Given the description of an element on the screen output the (x, y) to click on. 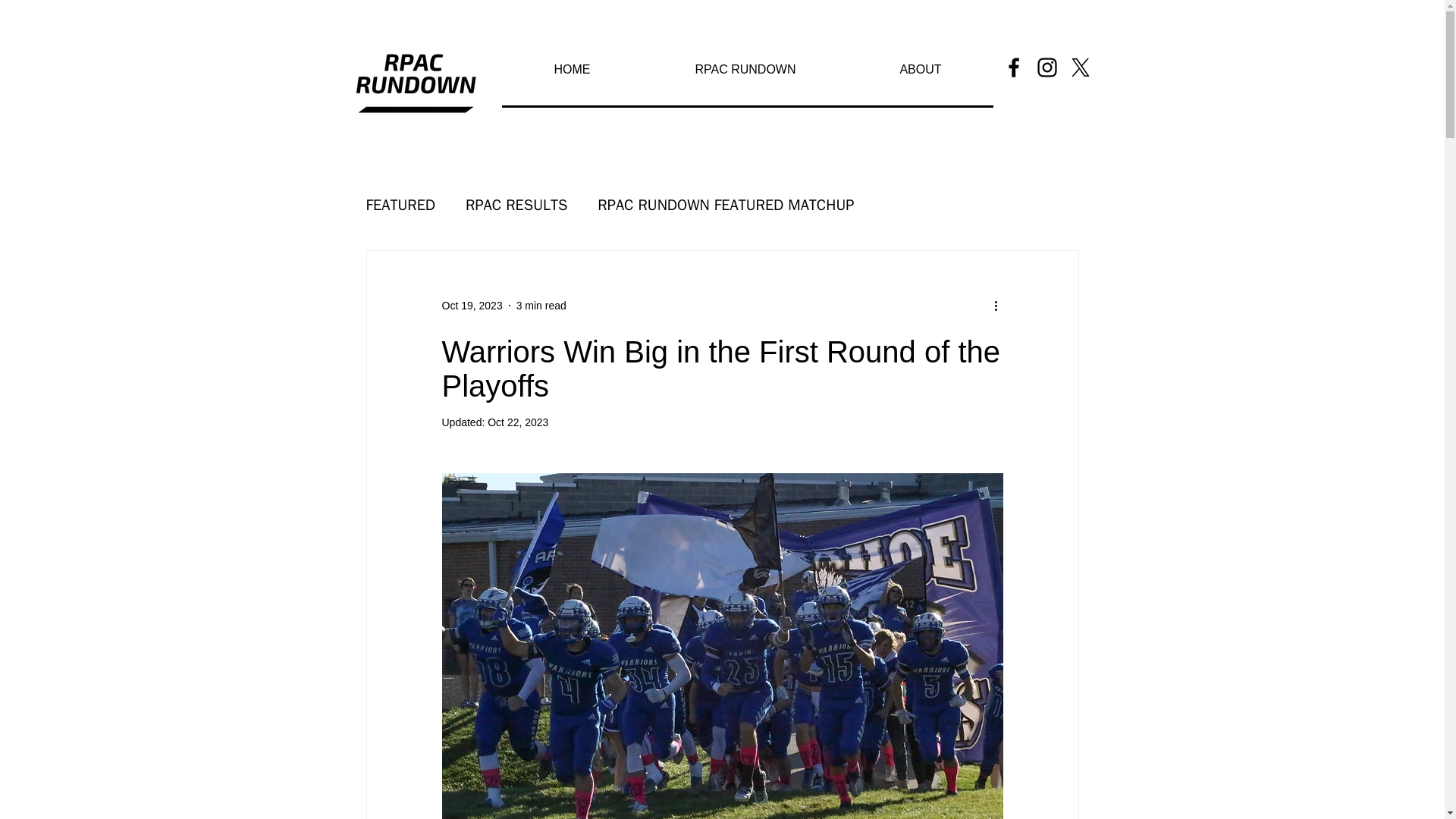
RPAC RUNDOWN (745, 68)
FEATURED (400, 204)
3 min read (541, 304)
HOME (572, 68)
Oct 19, 2023 (471, 304)
Oct 22, 2023 (517, 422)
RPAC RUNDOWN FEATURED MATCHUP (724, 204)
RPAC RESULTS (516, 204)
Black  and Gold Best Boy Media.png (416, 80)
ABOUT (919, 68)
